Given the description of an element on the screen output the (x, y) to click on. 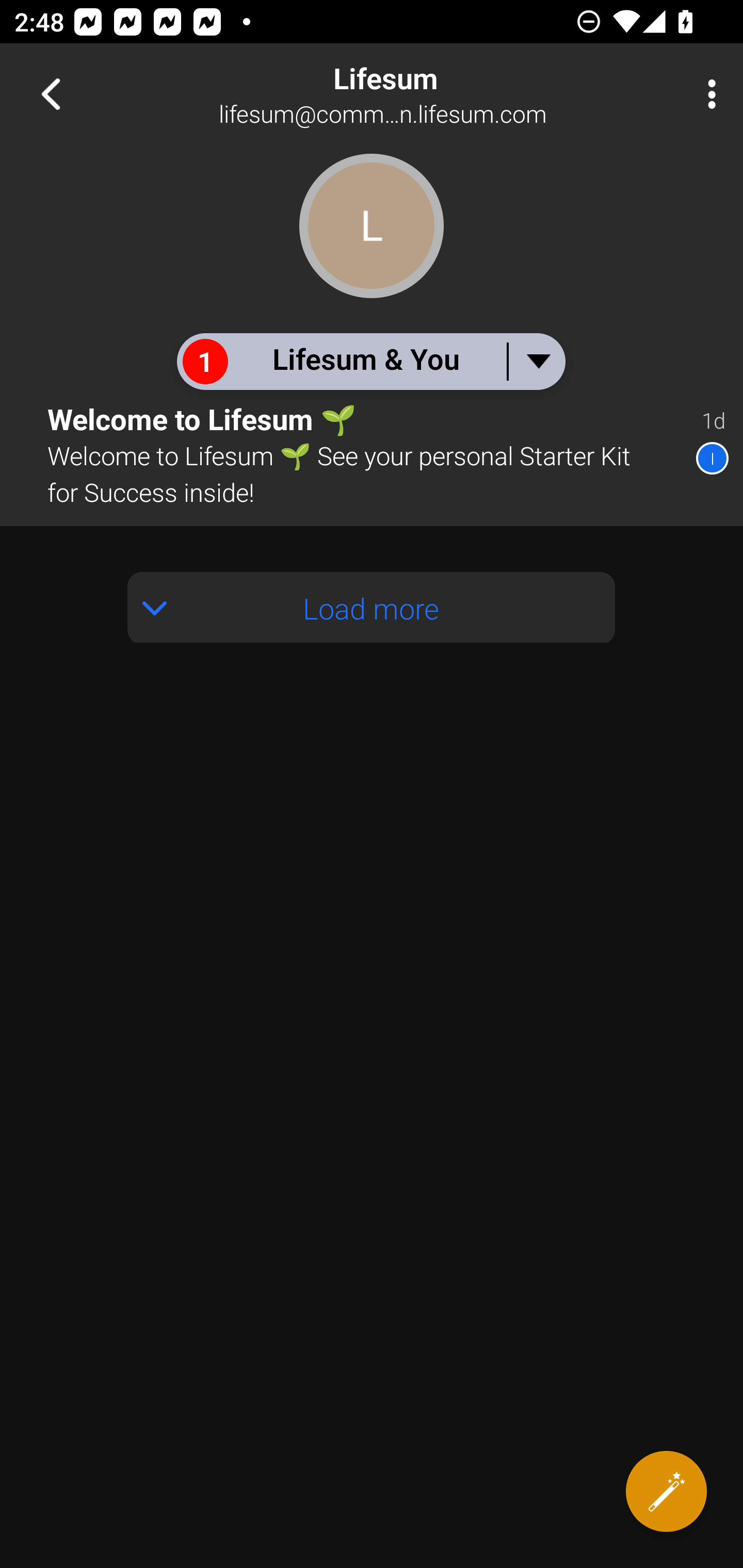
Navigate up (50, 93)
Lifesum lifesum@communication.lifesum.com (436, 93)
More Options (706, 93)
1 Lifesum & You (370, 361)
Load more (371, 607)
